Given the description of an element on the screen output the (x, y) to click on. 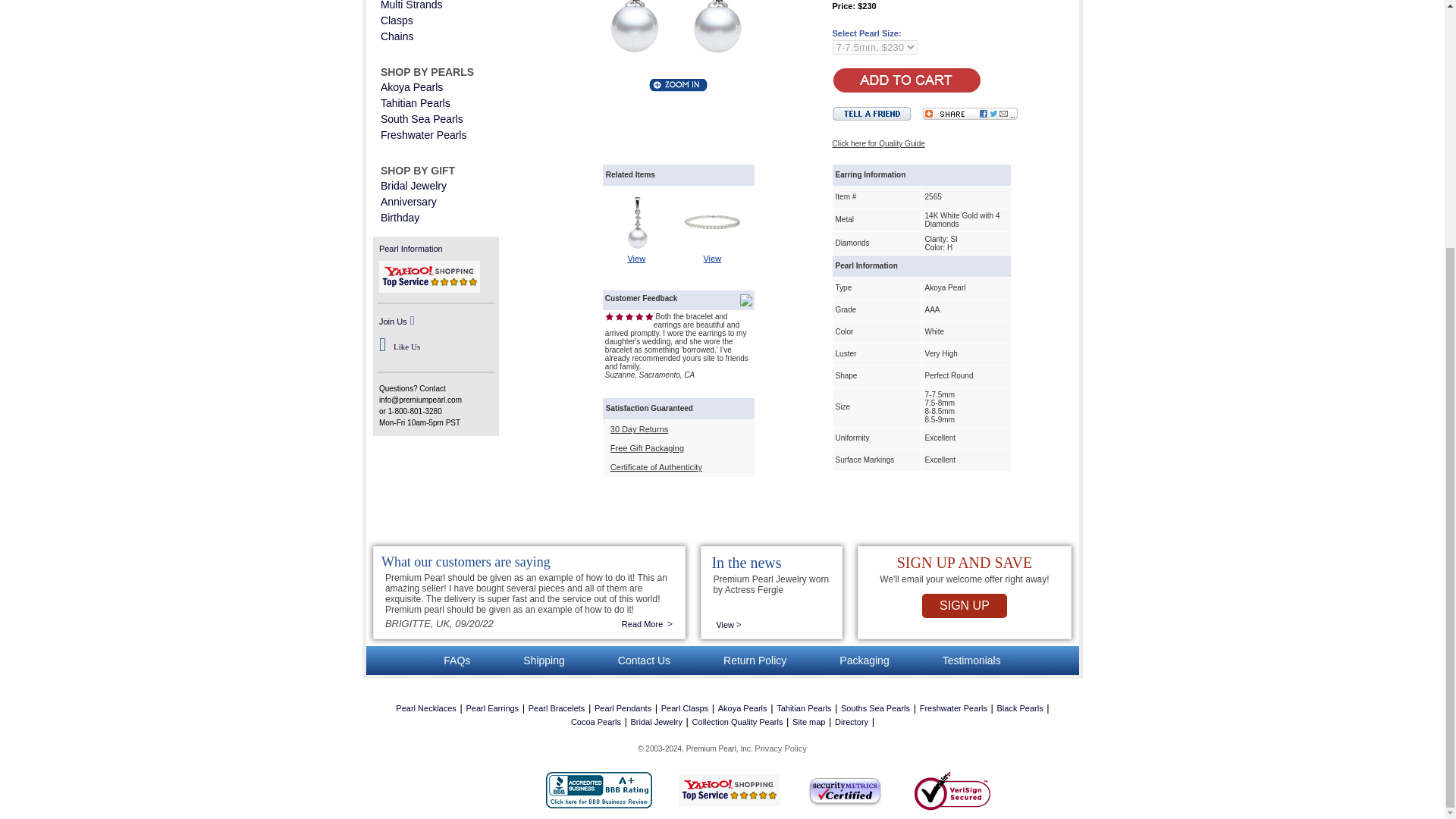
Multi Strands (411, 5)
Birthday (399, 217)
Chains (396, 36)
Click here for Quality Guide (878, 143)
Pearl Information (410, 248)
Like Us (406, 346)
Bridal Jewelry (413, 185)
Clasps (396, 20)
Join Us (392, 320)
South Sea Pearls (421, 119)
